Given the description of an element on the screen output the (x, y) to click on. 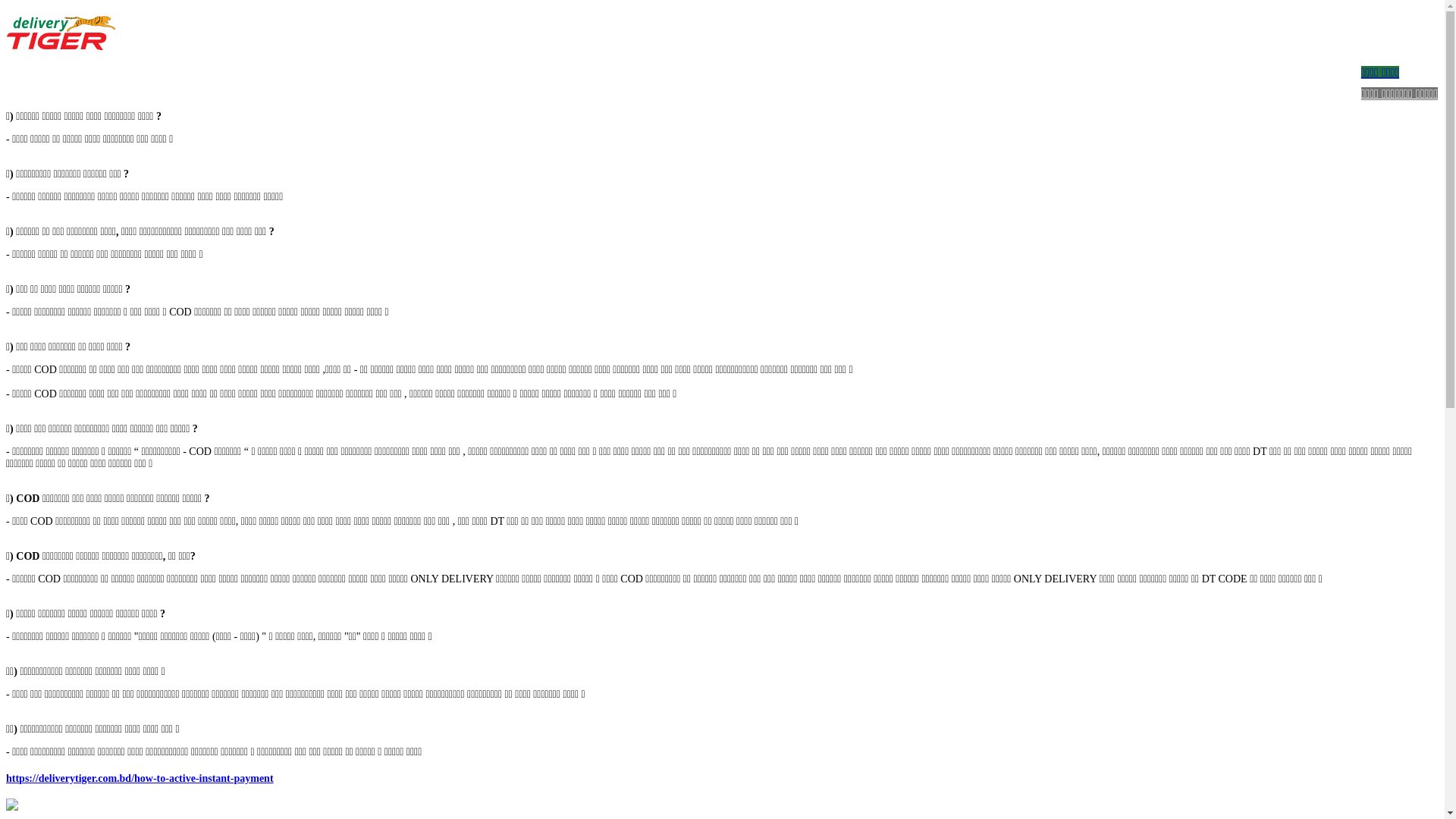
https://deliverytiger.com.bd/how-to-active-instant-payment Element type: text (722, 791)
